Given the description of an element on the screen output the (x, y) to click on. 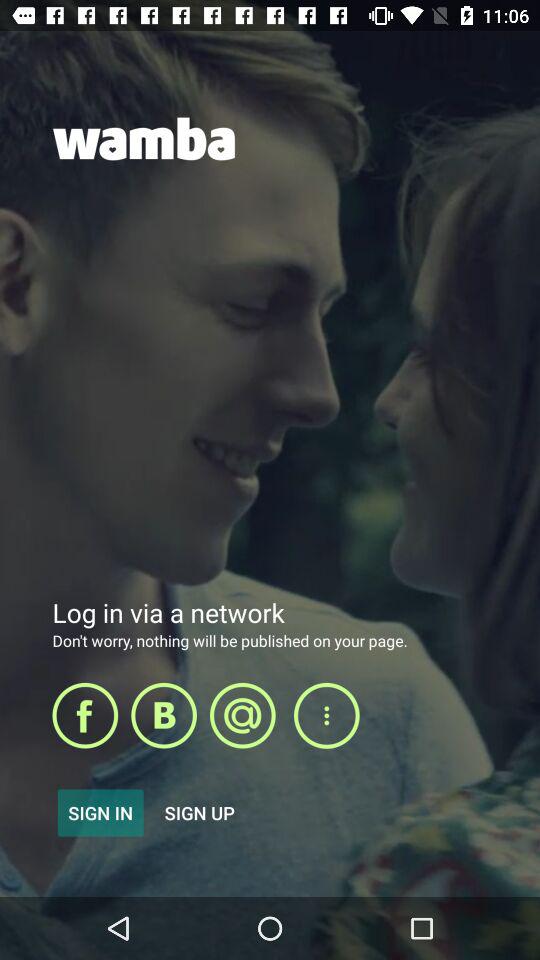
click the app icon (163, 715)
